Given the description of an element on the screen output the (x, y) to click on. 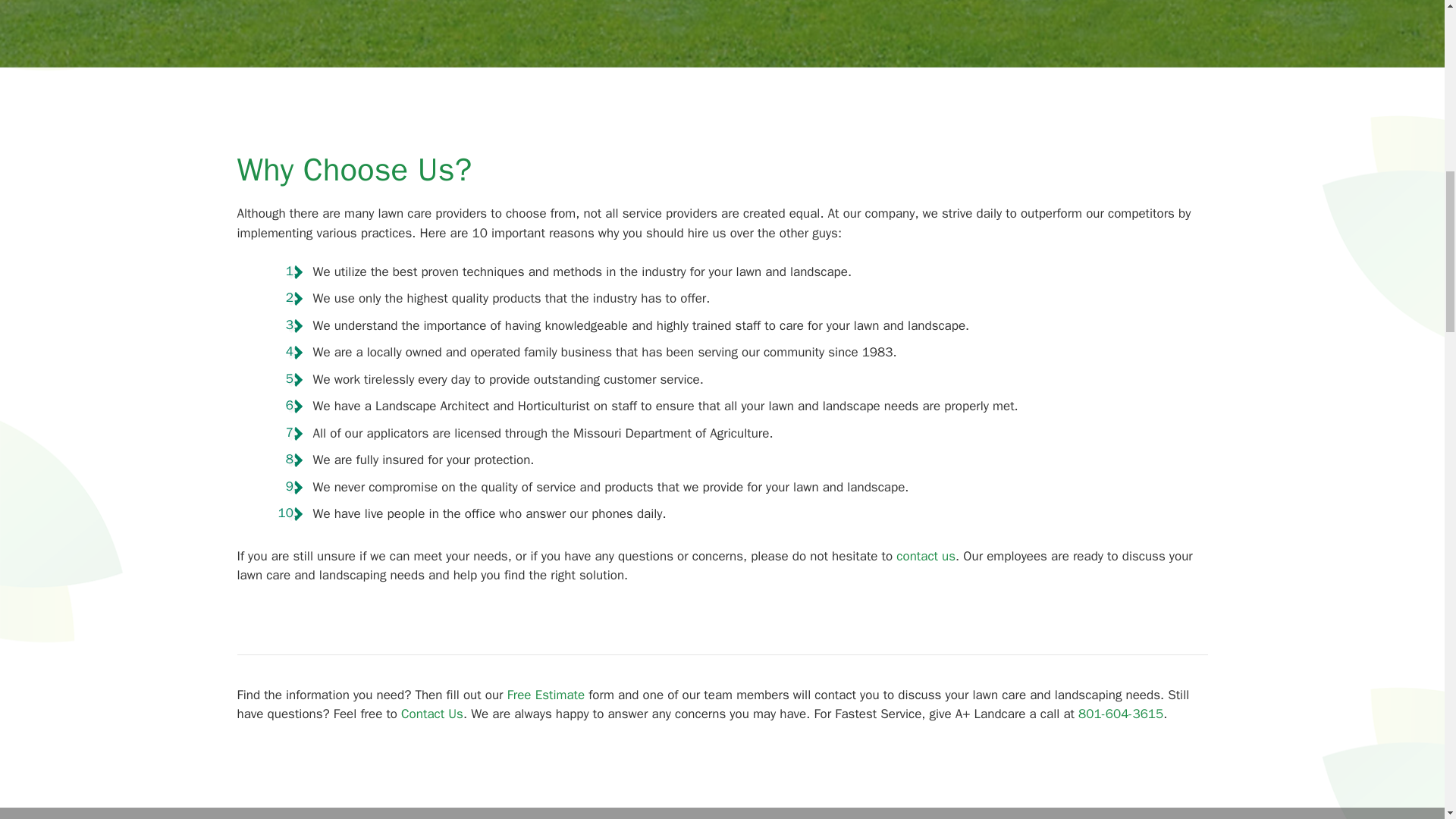
contact us (925, 555)
Free Estimate (545, 694)
801-604-3615 (1120, 713)
Contact Us (432, 713)
